Given the description of an element on the screen output the (x, y) to click on. 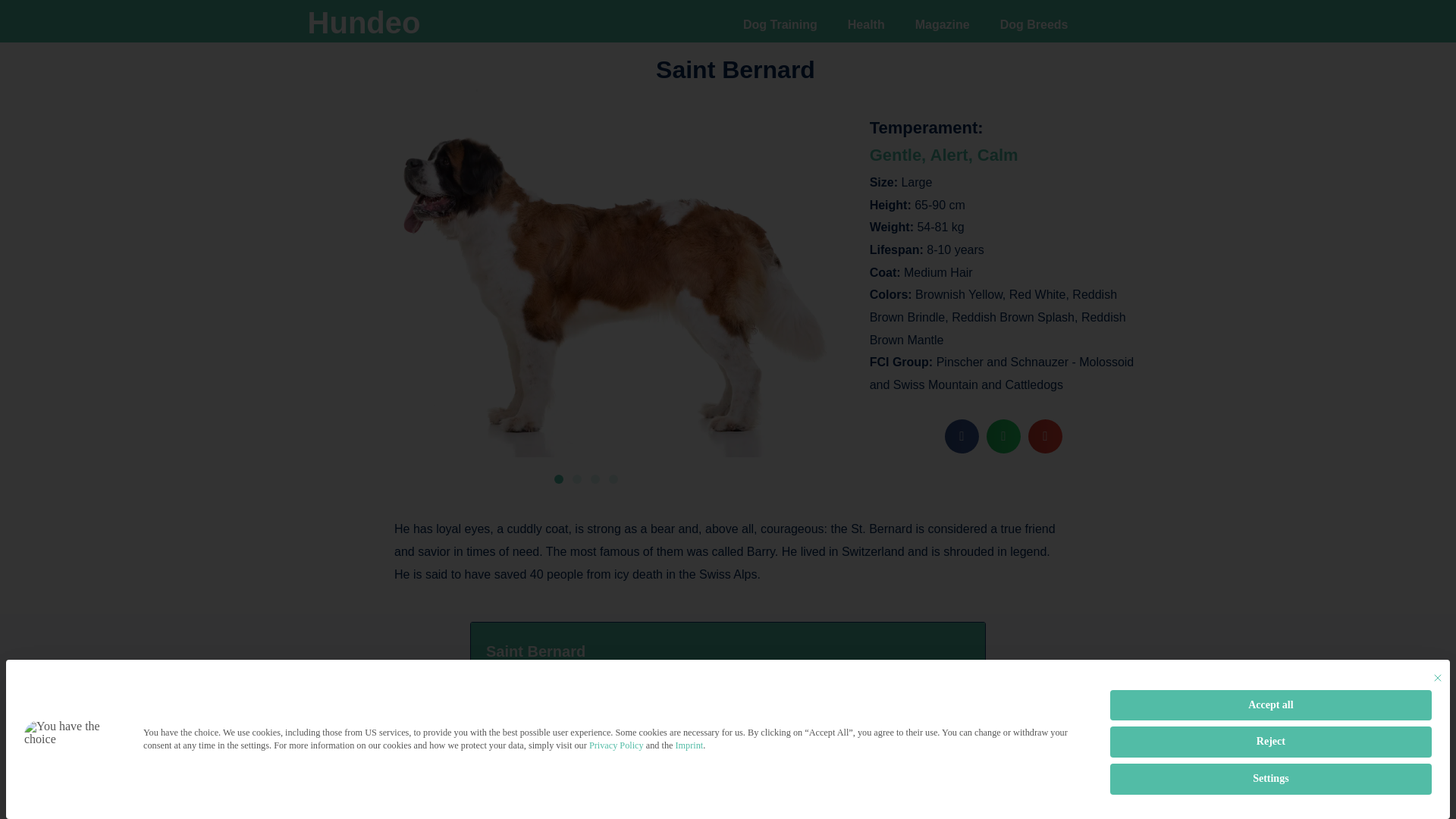
The right food (568, 736)
Magazine (942, 24)
Hundeo (363, 22)
Health (865, 24)
Dog Training (780, 24)
Dog Breeds (1034, 24)
Characteristics (571, 707)
Suitable accessories (586, 793)
